Given the description of an element on the screen output the (x, y) to click on. 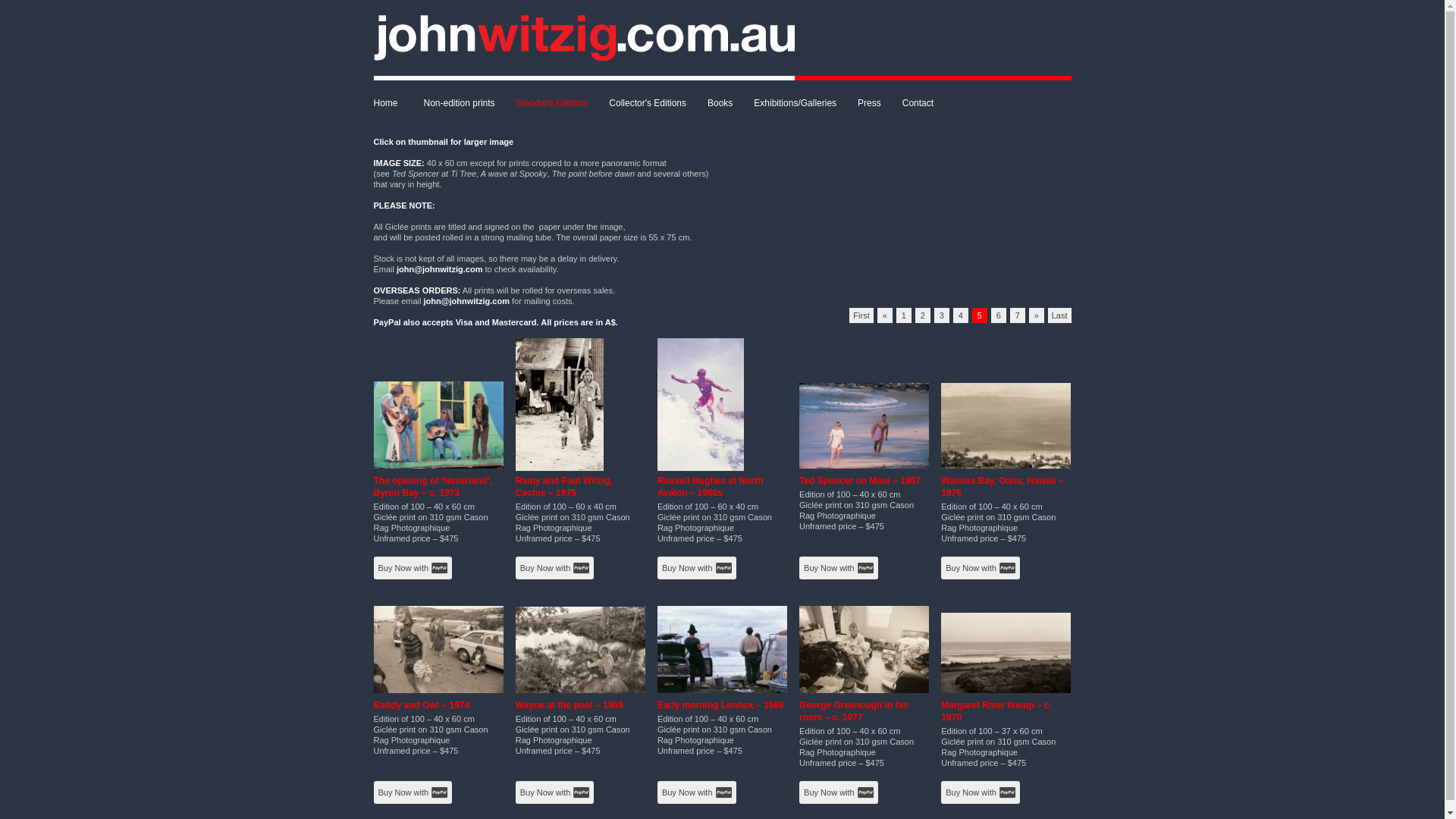
Exhibitions/Galleries Element type: text (795, 102)
john@johnwitzig.com Element type: text (466, 300)
Buy Now with Element type: text (838, 567)
Contact Element type: text (917, 102)
Buy Now with Element type: text (412, 792)
john@johnwitzig.com Element type: text (439, 268)
4 Element type: text (960, 315)
Standard Editions Element type: text (552, 102)
Buy Now with Element type: text (980, 792)
3 Element type: text (941, 315)
First Element type: text (860, 315)
Buy Now with Element type: text (696, 792)
Collector's Editions Element type: text (647, 102)
Last Element type: text (1059, 315)
Buy Now with Element type: text (554, 792)
7 Element type: text (1017, 315)
Buy Now with Element type: text (980, 567)
Home Element type: text (392, 102)
Non-edition prints Element type: text (459, 102)
Books Element type: text (719, 102)
1 Element type: text (903, 315)
Buy Now with Element type: text (554, 567)
Press Element type: text (869, 102)
6 Element type: text (998, 315)
2 Element type: text (922, 315)
Buy Now with Element type: text (838, 792)
Buy Now with Element type: text (696, 567)
Buy Now with Element type: text (412, 567)
